Given the description of an element on the screen output the (x, y) to click on. 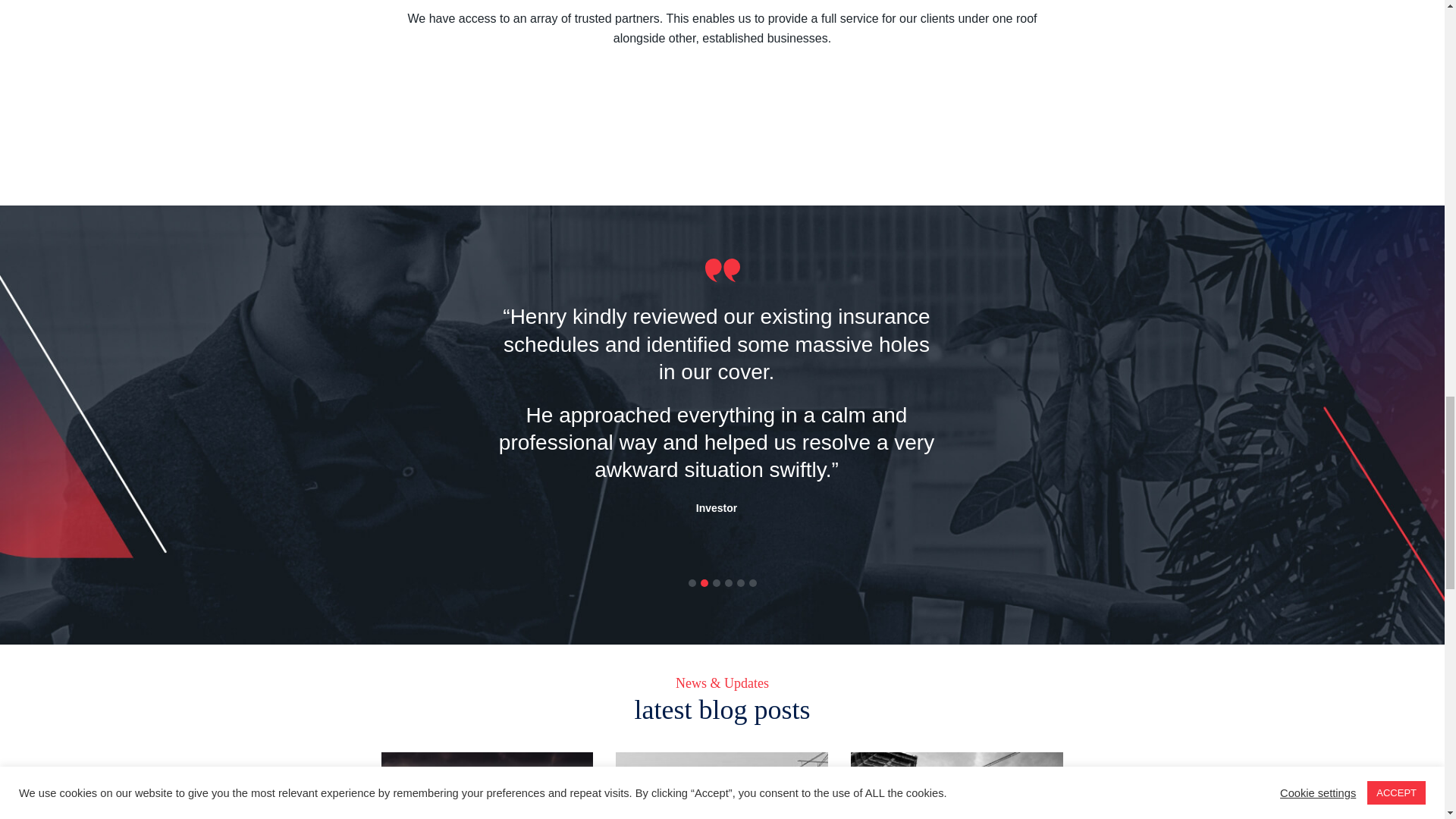
3 (717, 583)
2 (705, 583)
5 (740, 583)
4 (729, 583)
6 (753, 583)
1 (692, 583)
